Given the description of an element on the screen output the (x, y) to click on. 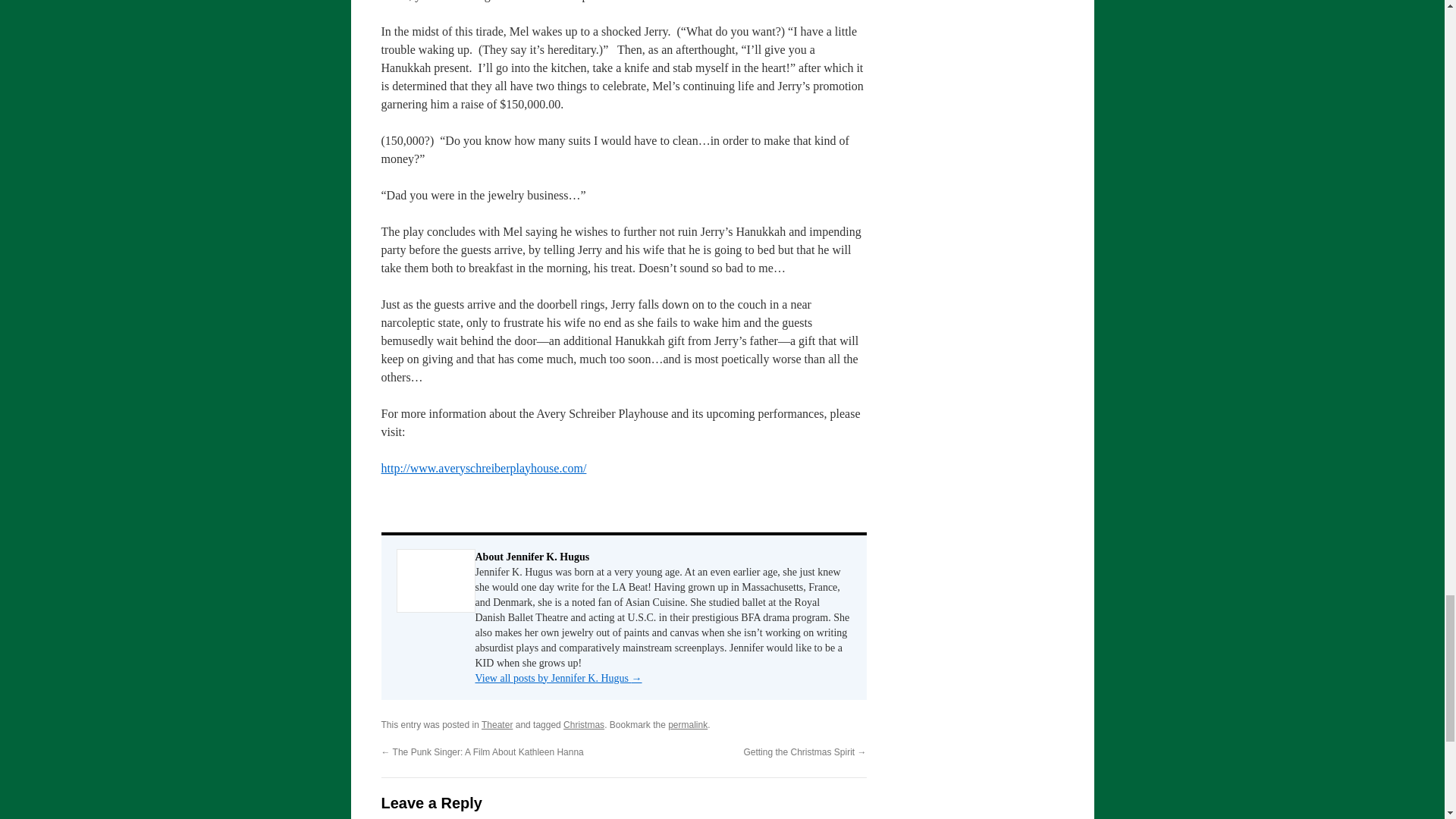
Theater (496, 724)
Christmas (583, 724)
permalink (687, 724)
